Given the description of an element on the screen output the (x, y) to click on. 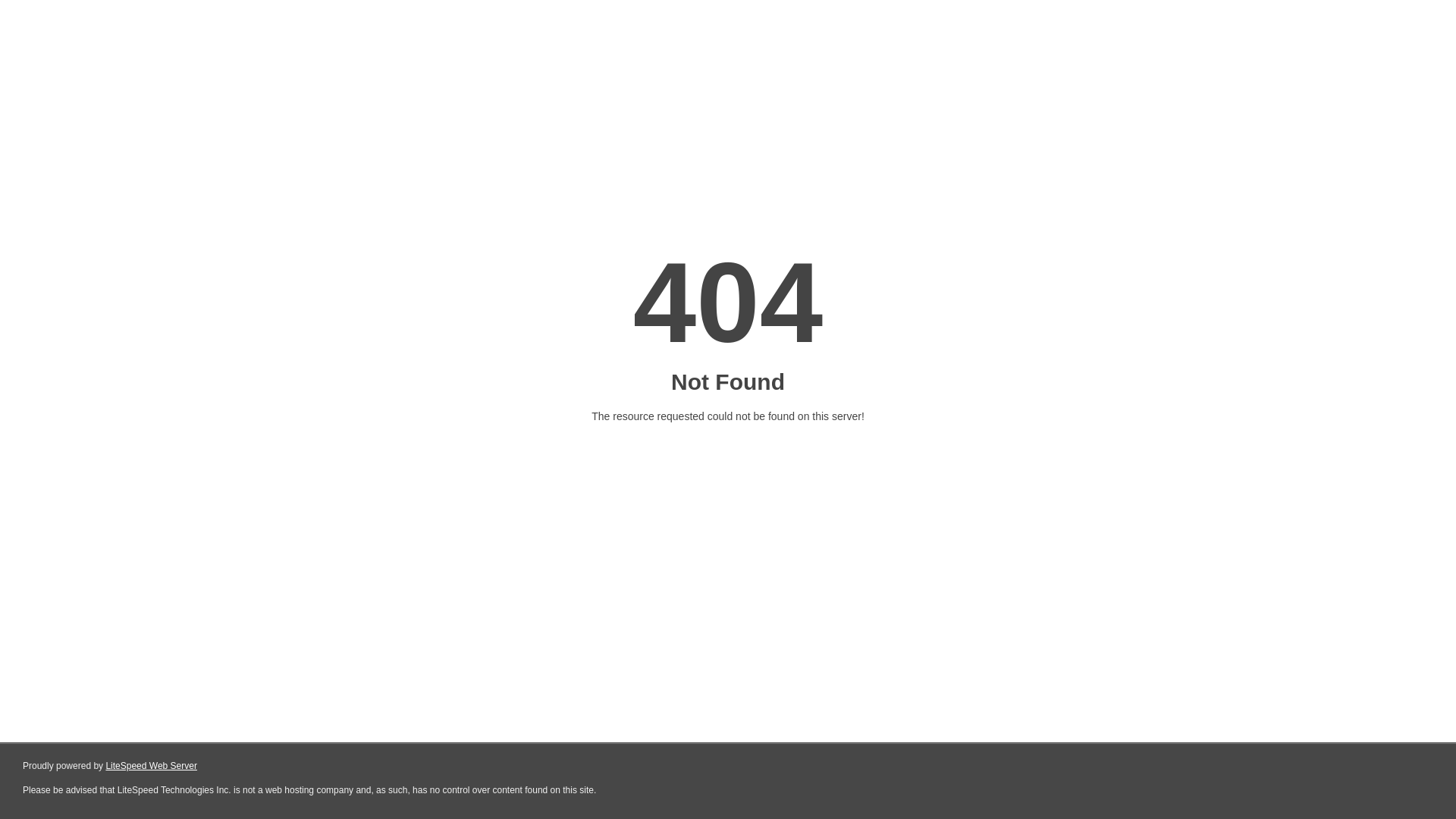
LiteSpeed Web Server Element type: text (151, 765)
